Given the description of an element on the screen output the (x, y) to click on. 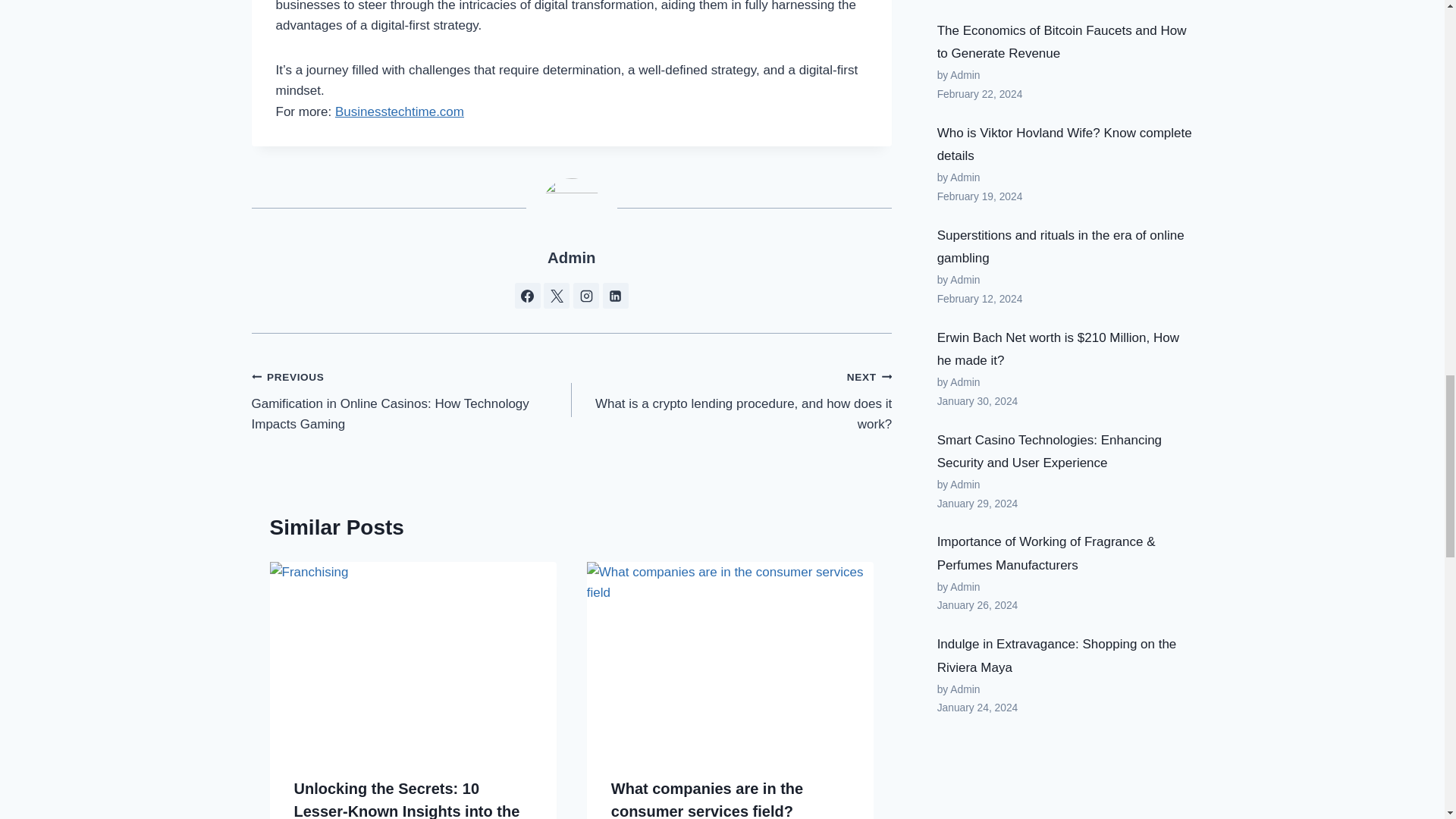
Follow Admin on Instagram (585, 295)
Follow Admin on X formerly Twitter (556, 295)
Businesstechtime.com (399, 111)
Follow Admin on Facebook (527, 295)
Admin (571, 257)
What companies are in the consumer services field? (707, 799)
Follow Admin on Linkedin (615, 295)
Posts by Admin (571, 257)
